Given the description of an element on the screen output the (x, y) to click on. 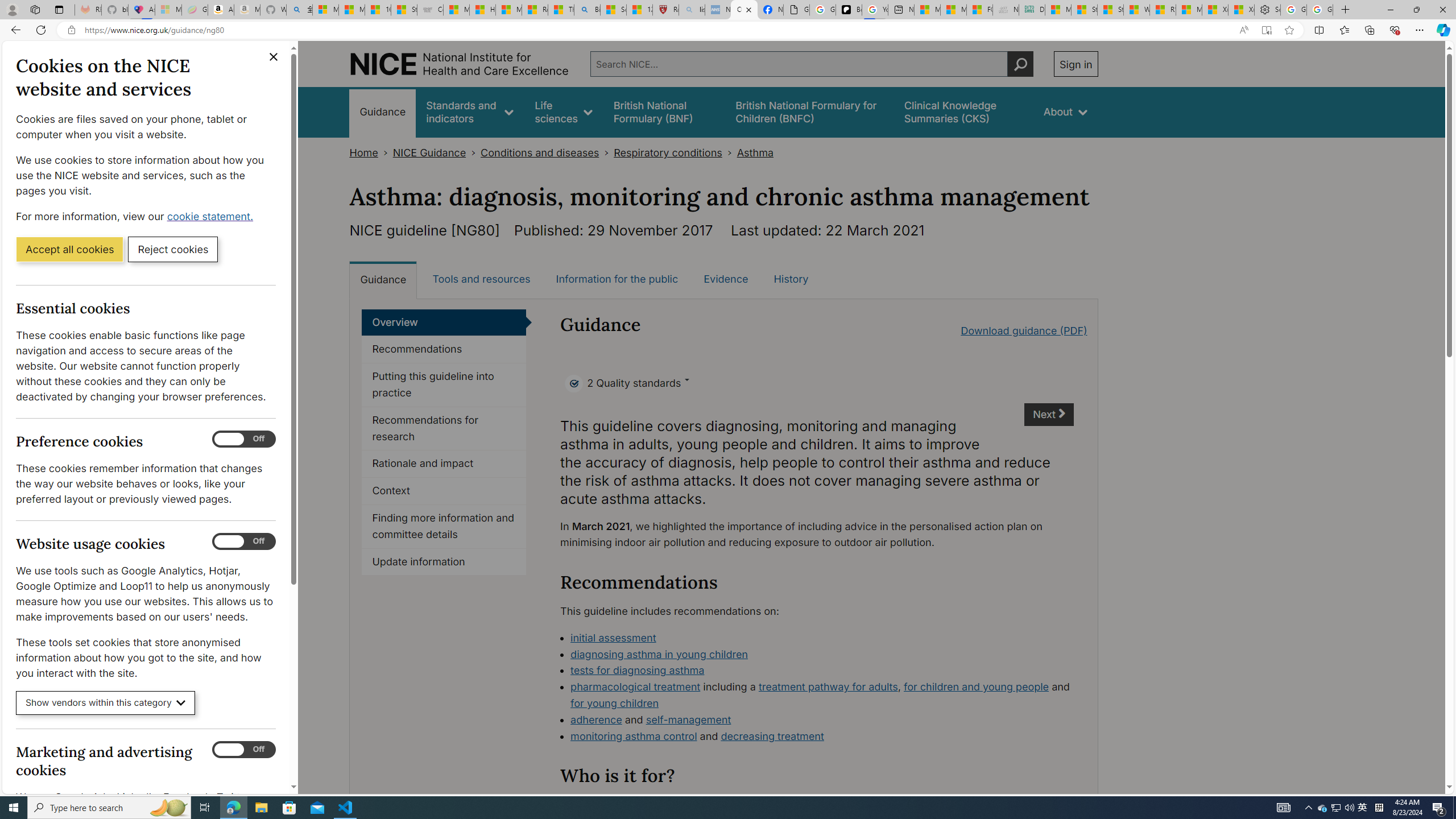
Putting this guideline into practice (444, 385)
tests for diagnosing asthma (822, 670)
Recommendations (444, 349)
Finding more information and committee details (443, 526)
Evidence (725, 279)
Asthma (755, 152)
Update information (443, 561)
Context (443, 491)
Asthma Inhalers: Names and Types (141, 9)
Respiratory conditions> (674, 152)
Next chapter (1049, 414)
FOX News - MSN (979, 9)
